Given the description of an element on the screen output the (x, y) to click on. 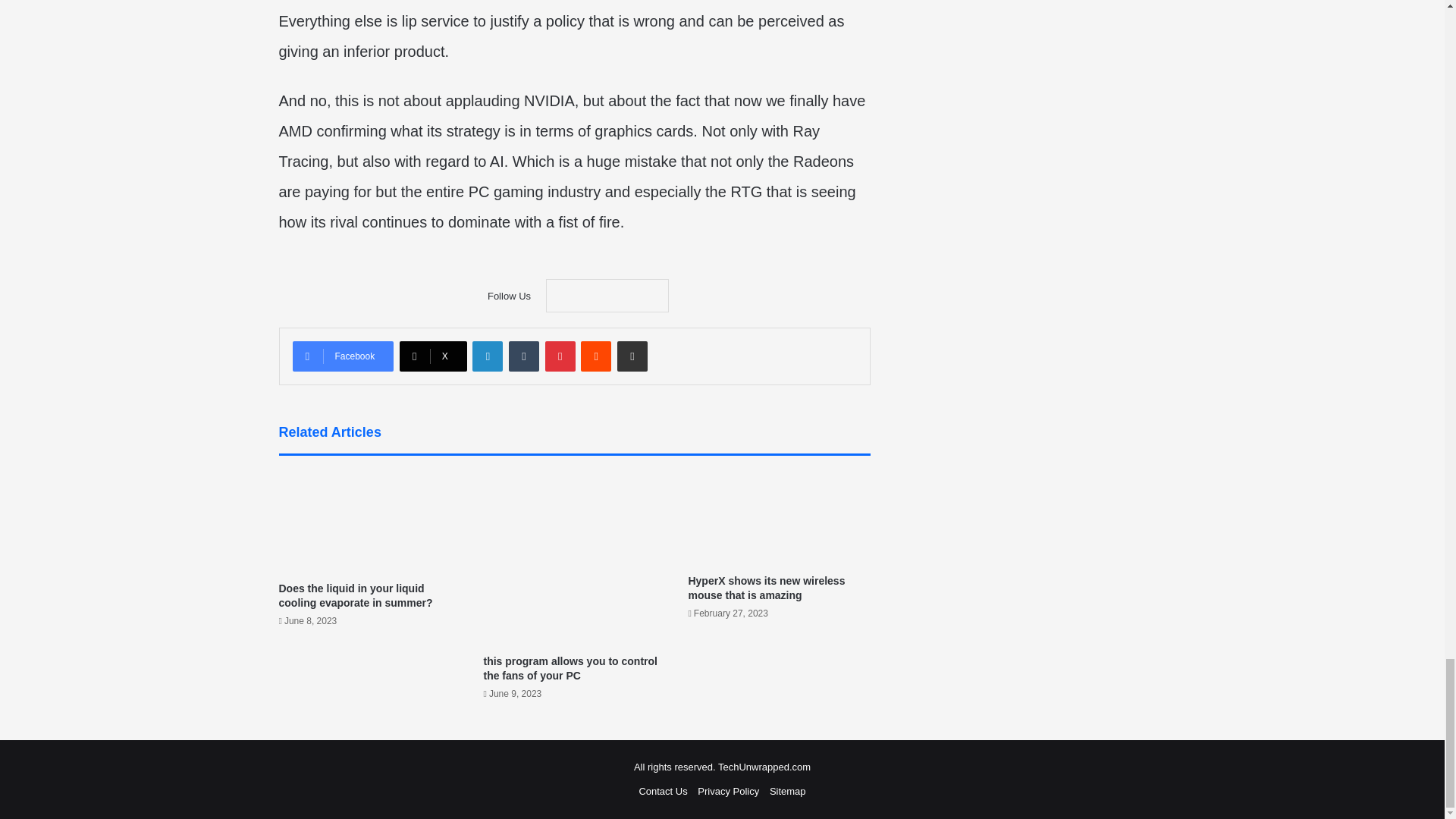
Facebook (343, 356)
Tumblr (523, 356)
Share via Email (632, 356)
X (432, 356)
Reddit (595, 356)
Contact Us (663, 790)
Share via Email (632, 356)
Privacy Policy (727, 790)
Pinterest (559, 356)
LinkedIn (486, 356)
LinkedIn (486, 356)
Google News (607, 295)
this program allows you to control the fans of your PC (569, 668)
Pinterest (559, 356)
Sitemap (788, 790)
